Given the description of an element on the screen output the (x, y) to click on. 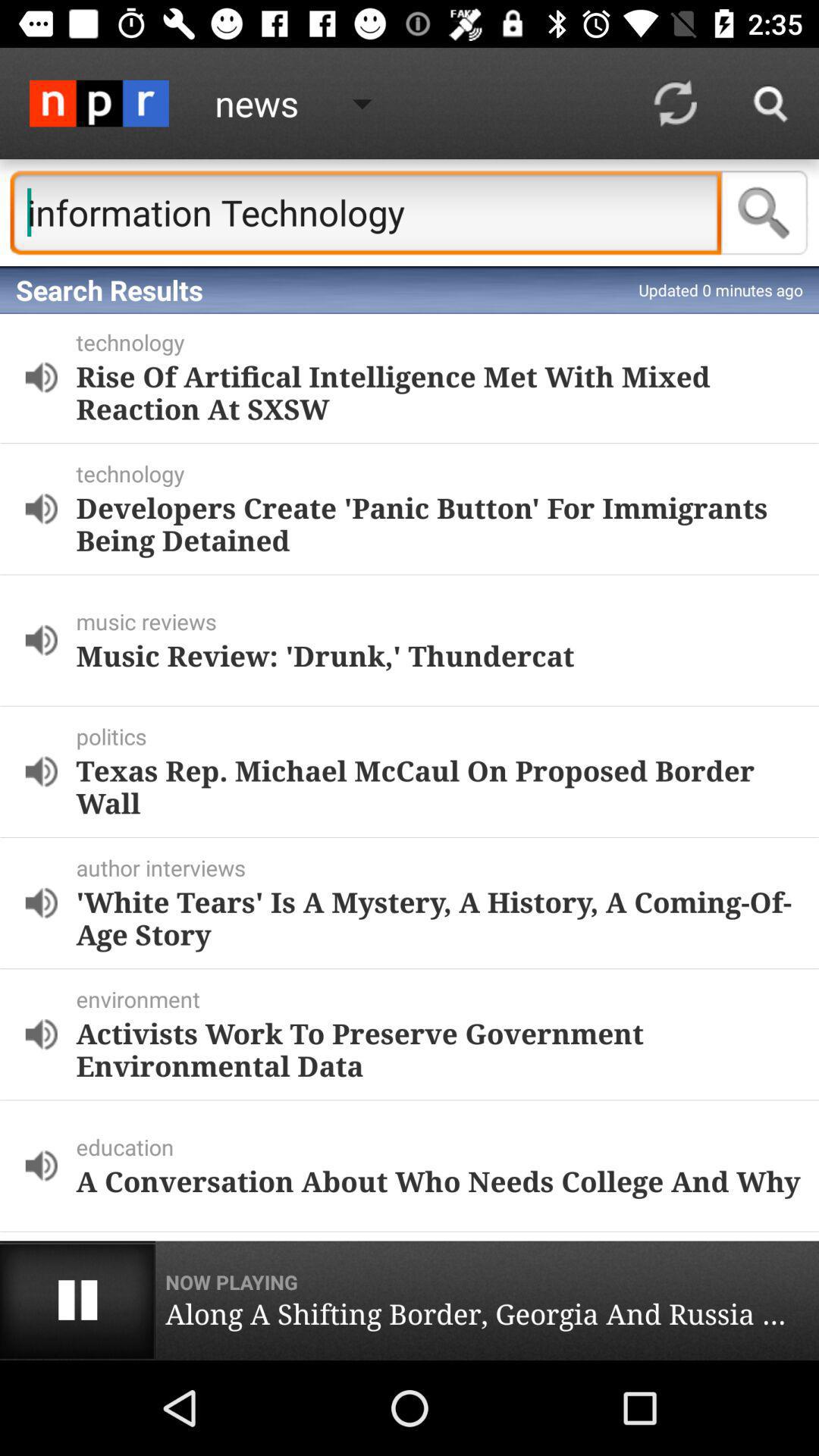
choose the item below the white tears is item (444, 998)
